Given the description of an element on the screen output the (x, y) to click on. 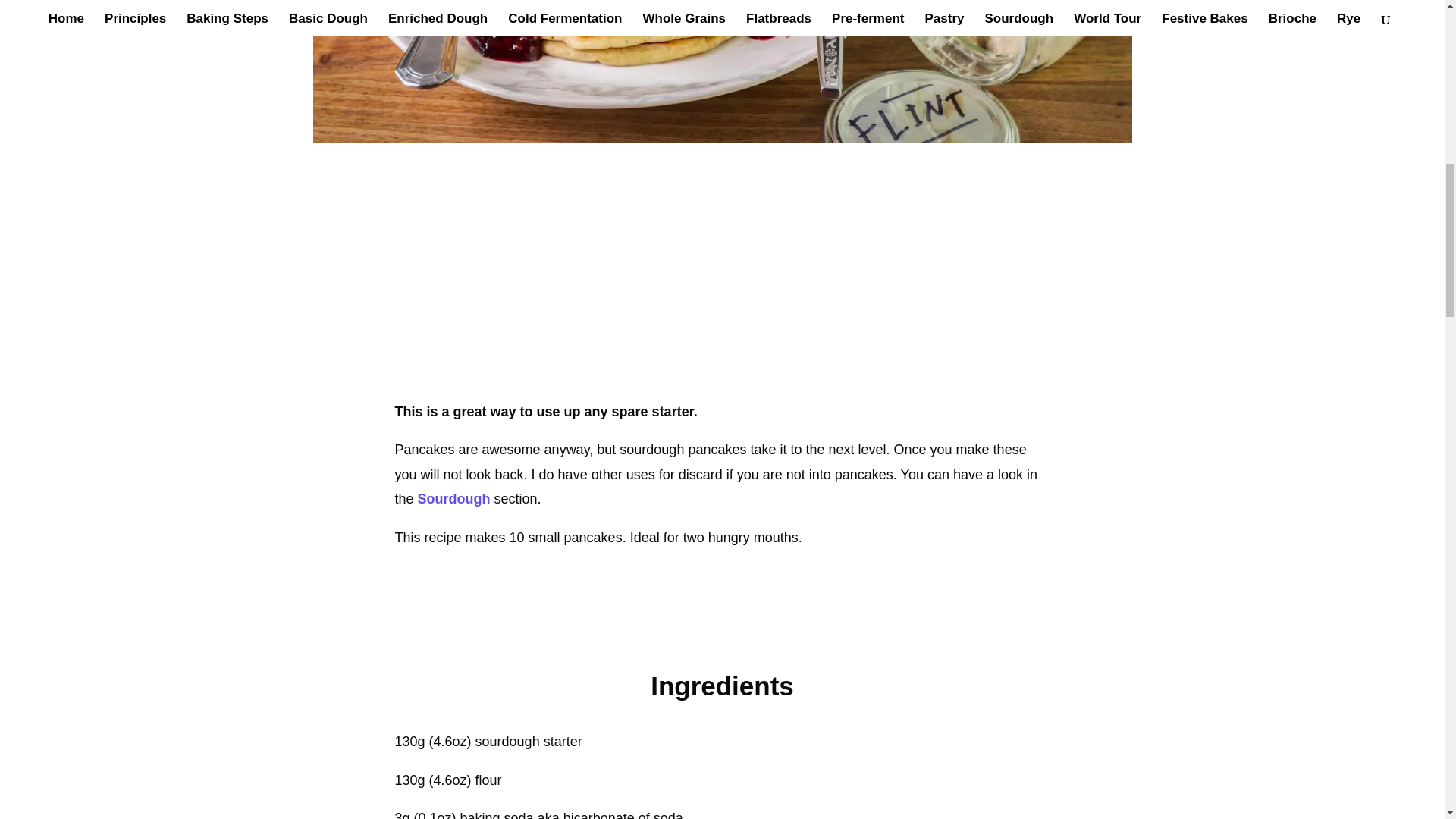
Sourdough (453, 498)
